Given the description of an element on the screen output the (x, y) to click on. 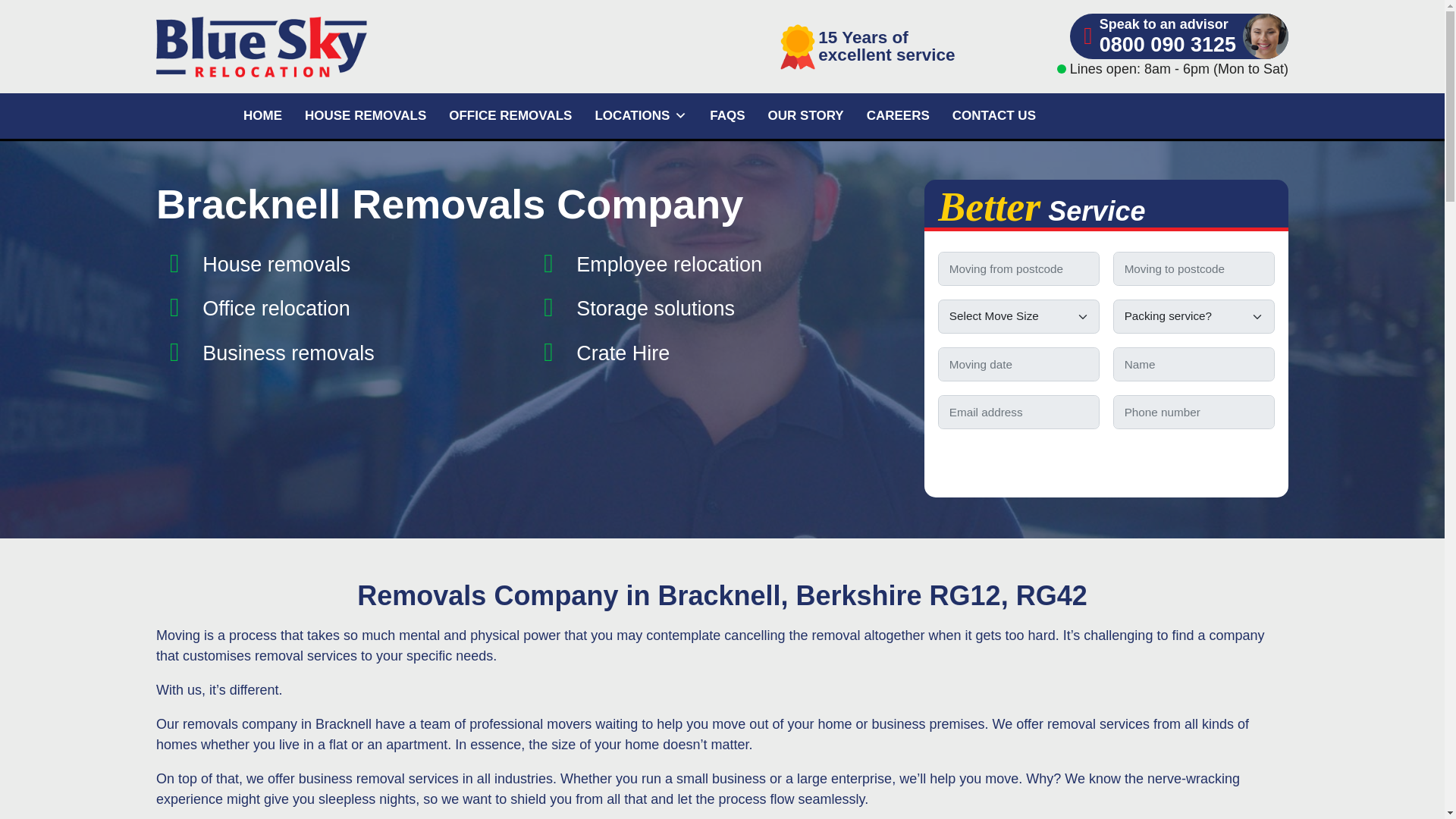
OUR STORY (806, 115)
OFFICE REMOVALS (510, 115)
FAQS (726, 115)
Get Instant Price (1106, 459)
LOCATIONS (640, 115)
Blue Sky Relocation (337, 46)
HOUSE REMOVALS (366, 115)
0800 090 3125 (1167, 45)
CAREERS (898, 115)
HOME (262, 115)
